Given the description of an element on the screen output the (x, y) to click on. 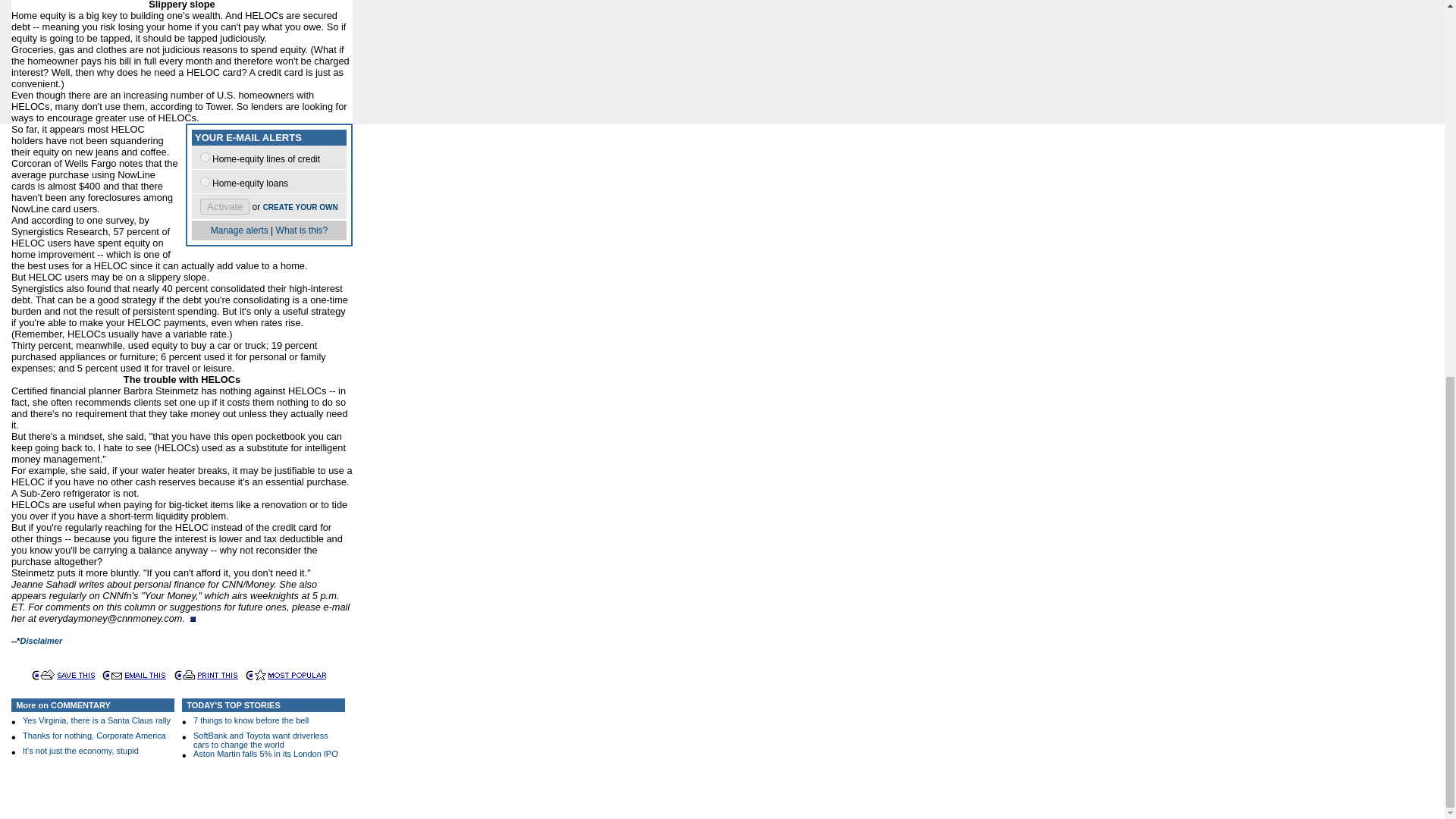
View a list of the most popular articles on our site (255, 674)
Email a link to this article (112, 674)
Printer-friendly version of this article (217, 674)
Activate (224, 206)
View a list of the most popular articles on our site (296, 674)
Printer-friendly version of this article (184, 674)
Email a link to this article (145, 674)
